Given the description of an element on the screen output the (x, y) to click on. 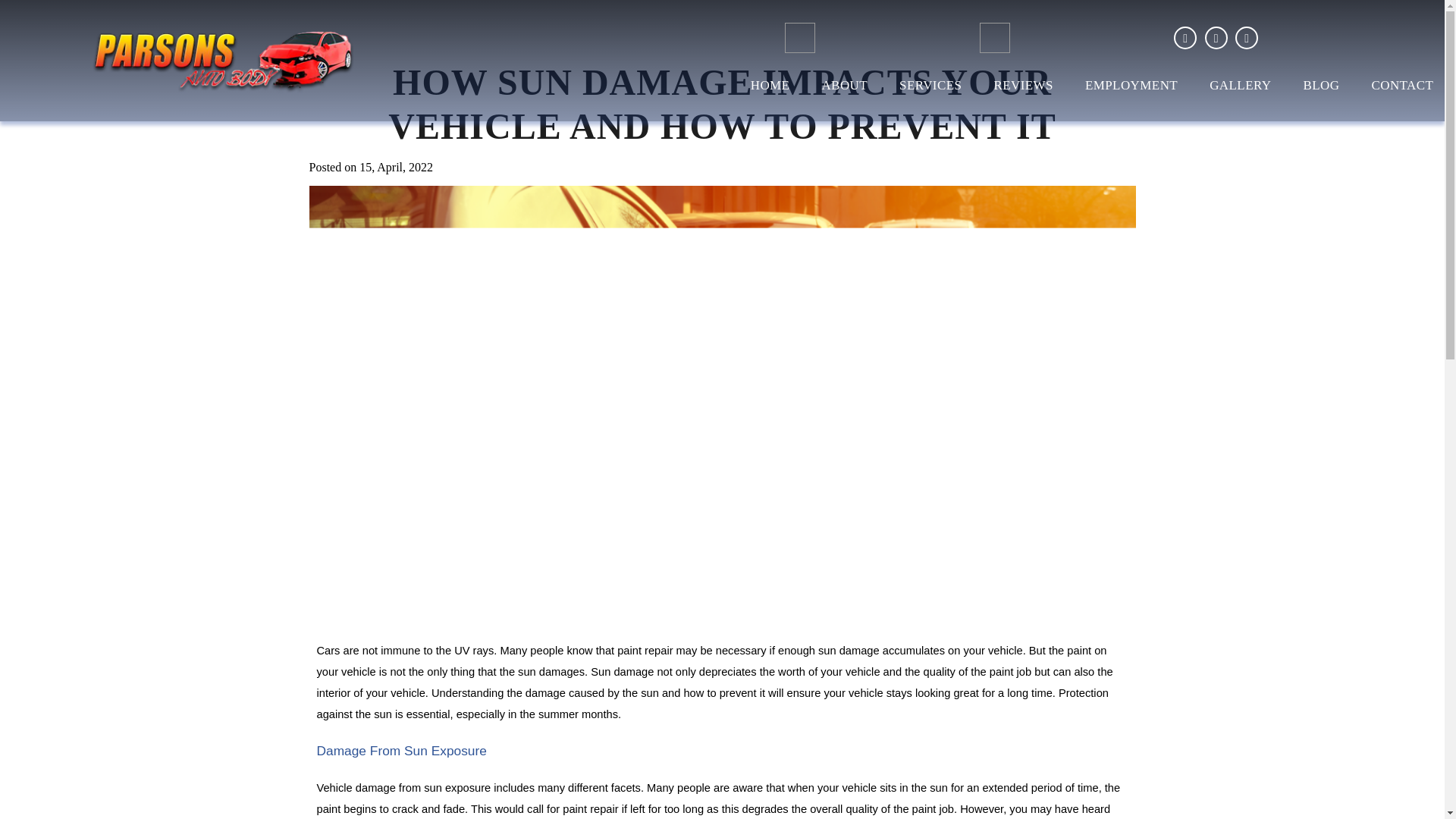
CONTACT (1401, 88)
SERVICES (929, 88)
HOME (770, 88)
BLOG (1321, 88)
GALLERY (1240, 88)
EMPLOYMENT (1130, 88)
ABOUT (844, 88)
REVIEWS (1022, 88)
